Given the description of an element on the screen output the (x, y) to click on. 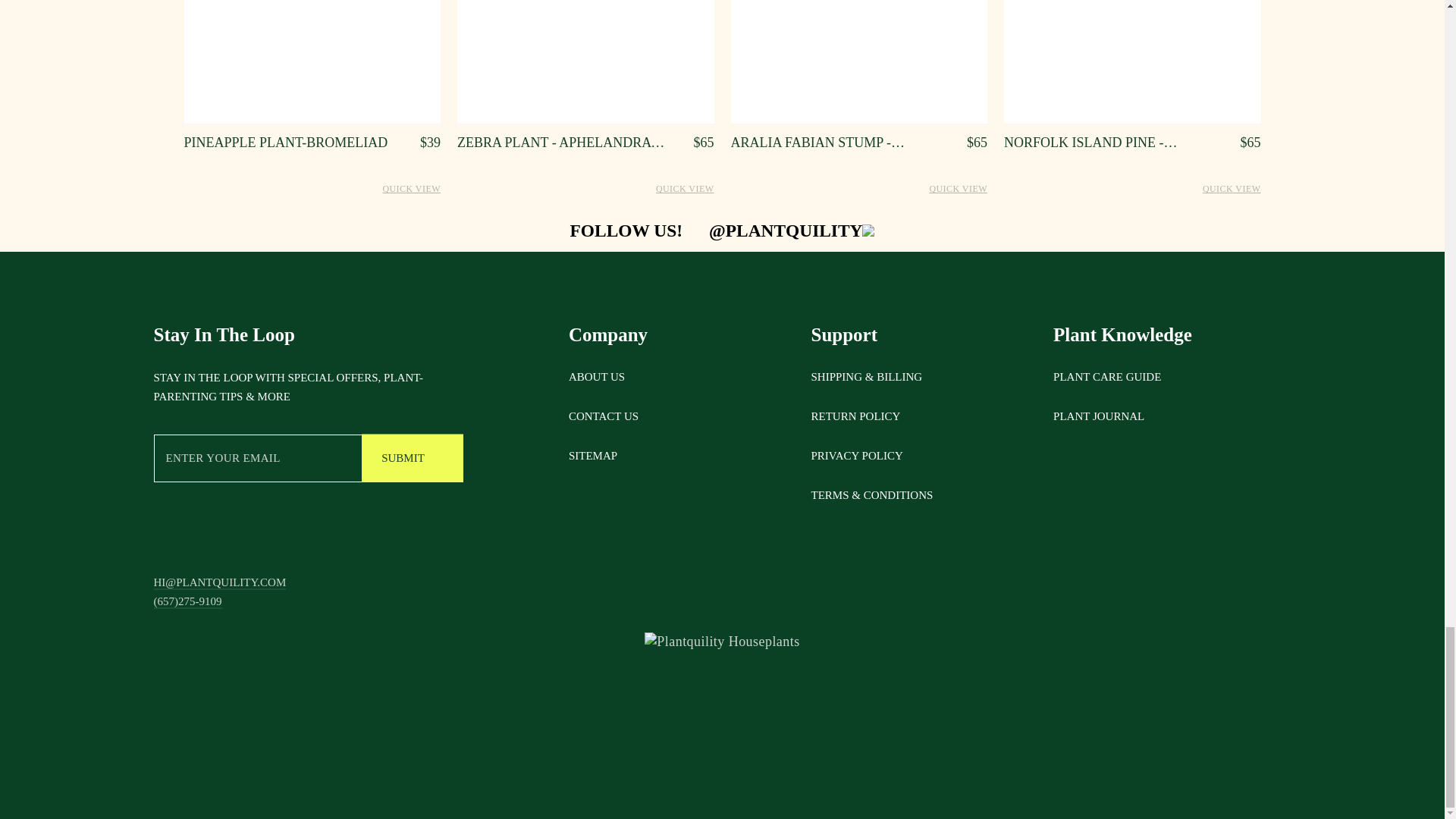
Plantquility Houseplants  on Instagram (740, 728)
tel:6572759109 (186, 602)
Plantquility Houseplants  on TikTok (665, 728)
Plantquility Houseplants  on Facebook (703, 728)
Plantquility Houseplants  on Pinterest (629, 728)
